Given the description of an element on the screen output the (x, y) to click on. 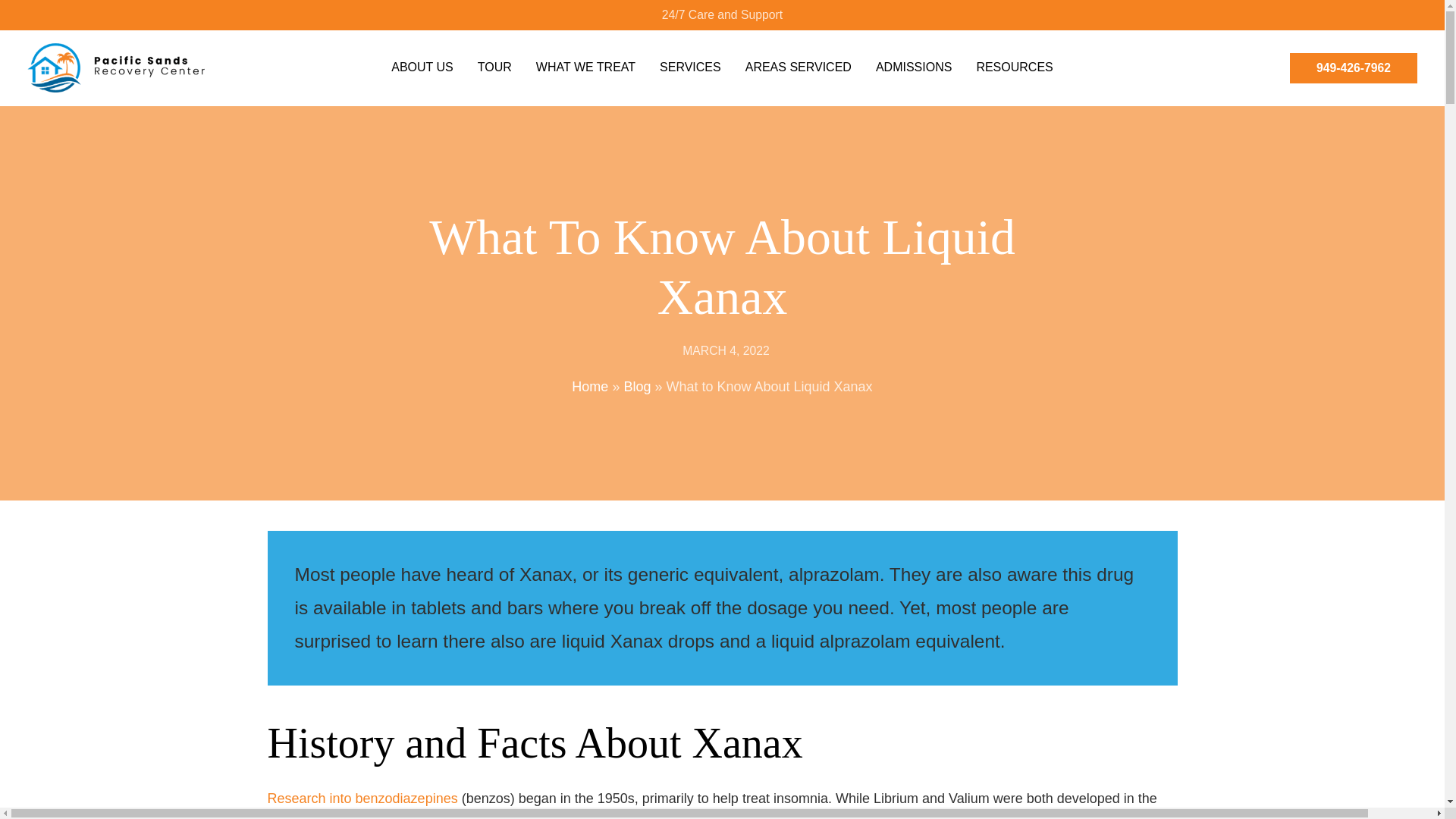
AREAS SERVICED (798, 68)
WHAT WE TREAT (584, 68)
What We Treat (584, 68)
ADMISSIONS (914, 68)
